Given the description of an element on the screen output the (x, y) to click on. 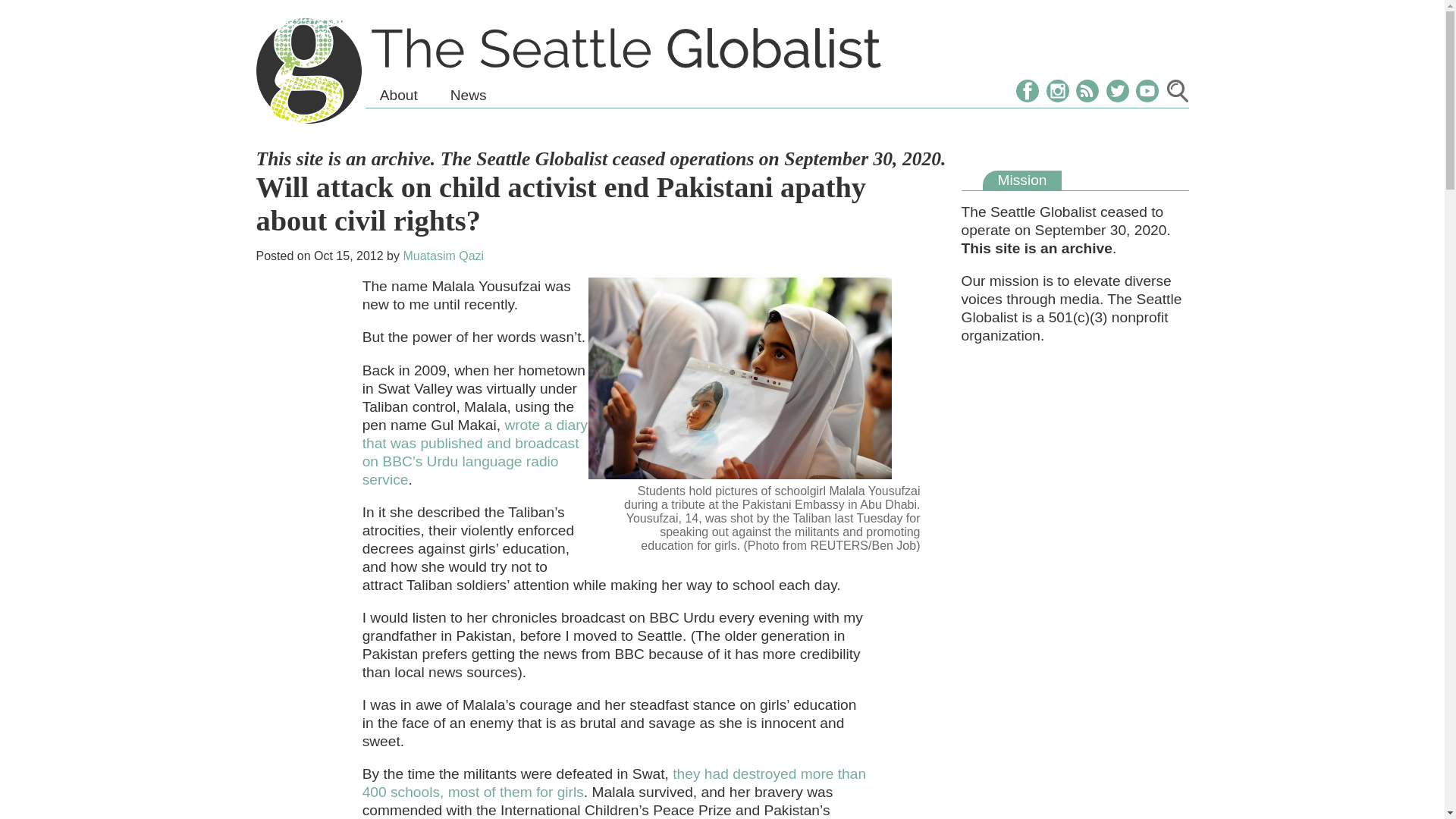
Oct 15, 2012 (349, 255)
News (467, 95)
Muatasim Qazi (443, 255)
About (398, 95)
